Given the description of an element on the screen output the (x, y) to click on. 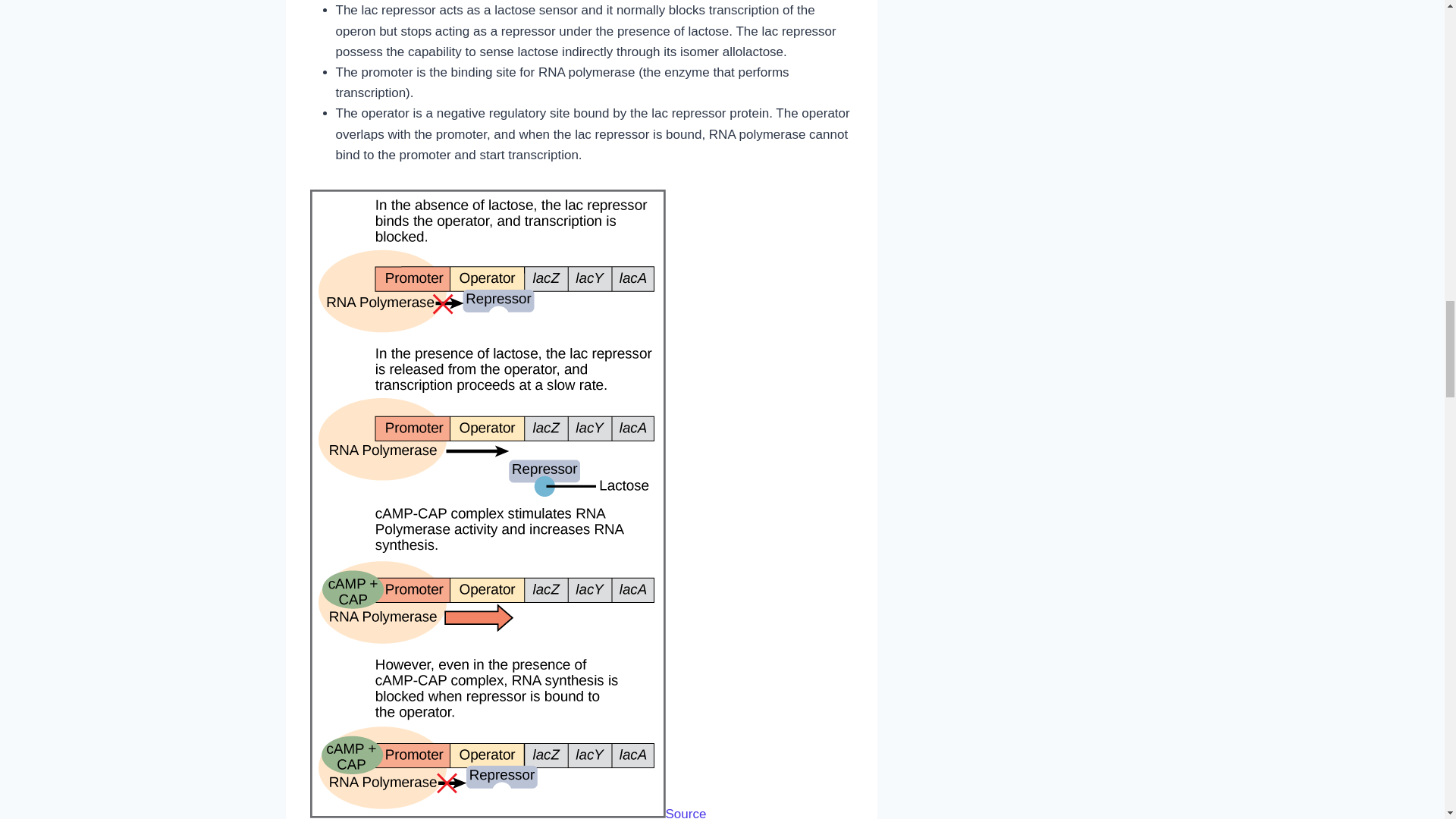
Source (685, 812)
